Given the description of an element on the screen output the (x, y) to click on. 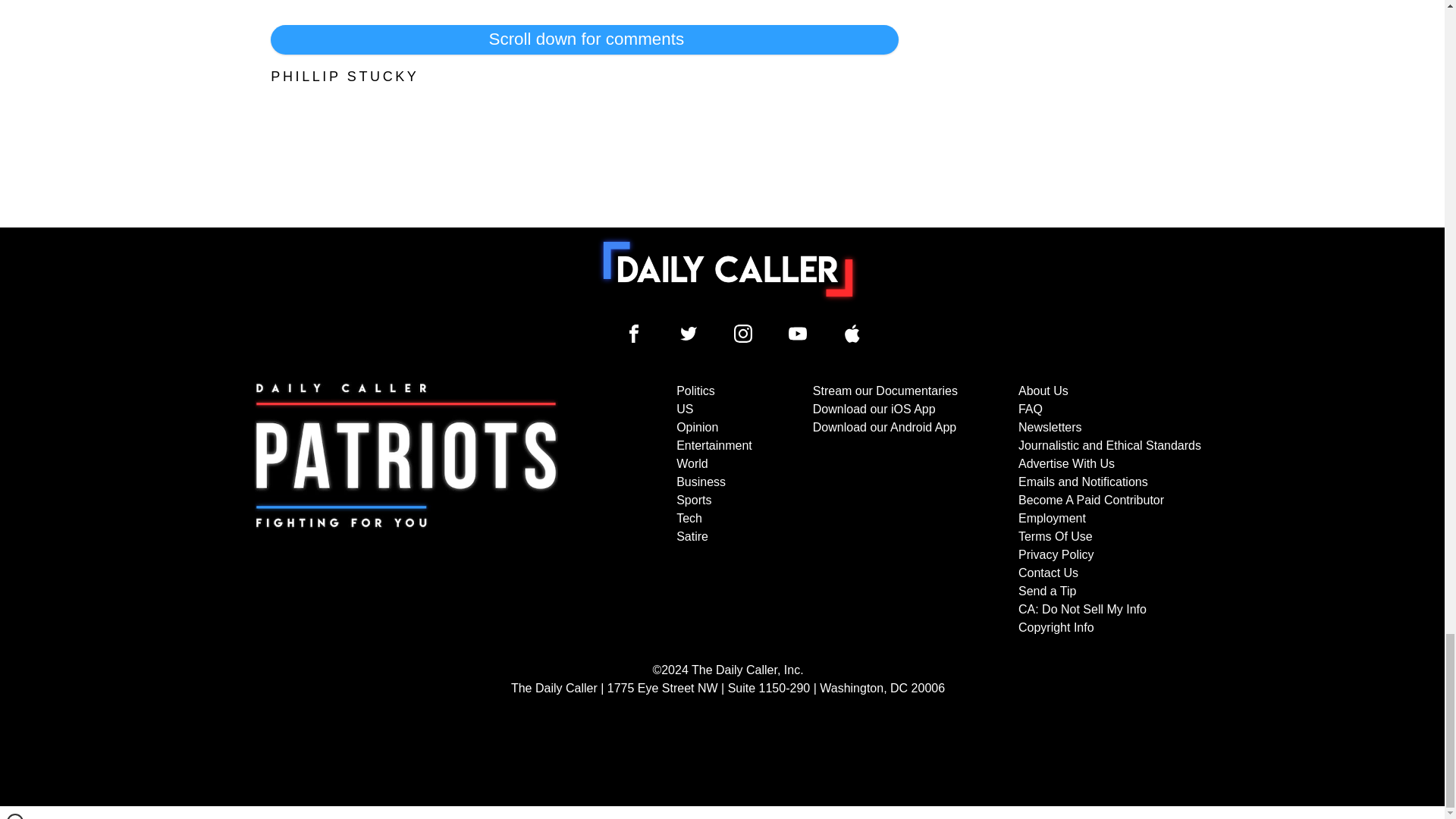
Daily Caller Instagram (742, 333)
Daily Caller Twitter (688, 333)
Daily Caller YouTube (852, 333)
Scroll down for comments (584, 39)
Subscribe to The Daily Caller (405, 509)
Daily Caller Facebook (633, 333)
To home page (727, 268)
Daily Caller YouTube (797, 333)
